Given the description of an element on the screen output the (x, y) to click on. 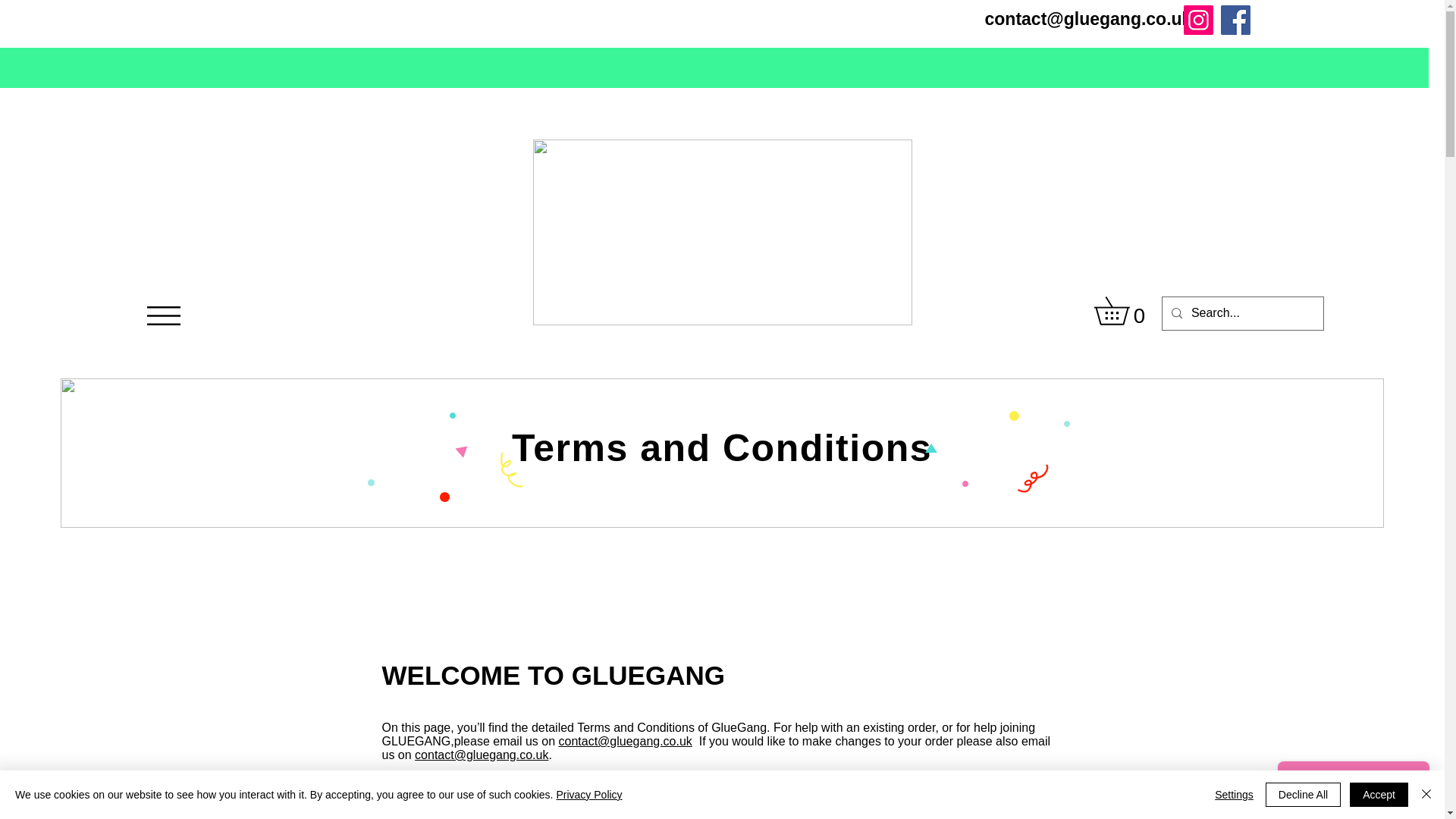
0 (1124, 310)
Accept (1378, 794)
Decline All (1302, 794)
0 (1124, 310)
Privacy Policy (588, 794)
